Given the description of an element on the screen output the (x, y) to click on. 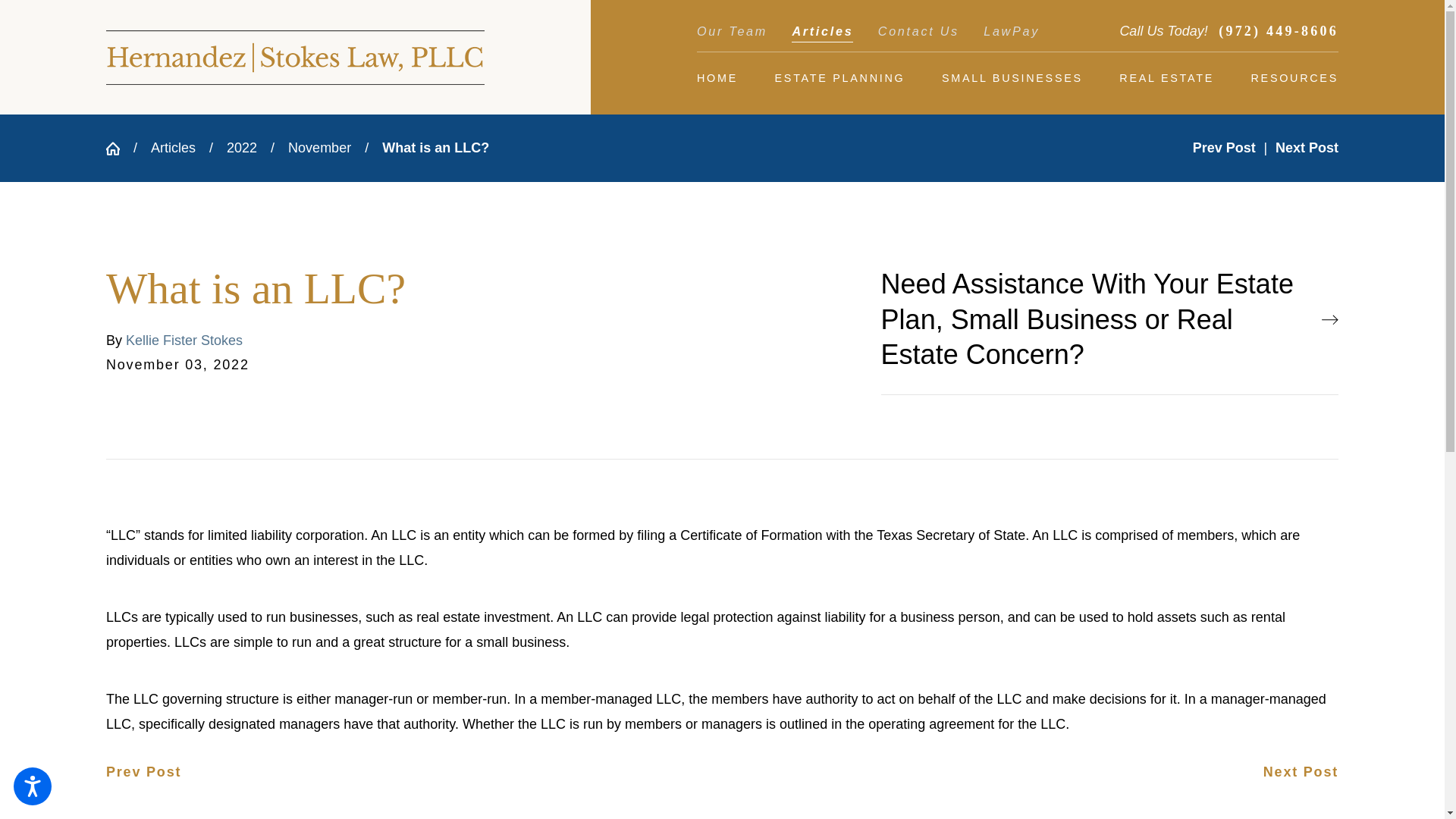
LawPay (1011, 36)
REAL ESTATE (1166, 78)
Articles (822, 36)
2022 (242, 147)
Go Home (119, 148)
Prev Post (143, 772)
SMALL BUSINESSES (1012, 78)
Open the accessibility options menu (31, 786)
November (319, 147)
Next Post (1306, 147)
